Given the description of an element on the screen output the (x, y) to click on. 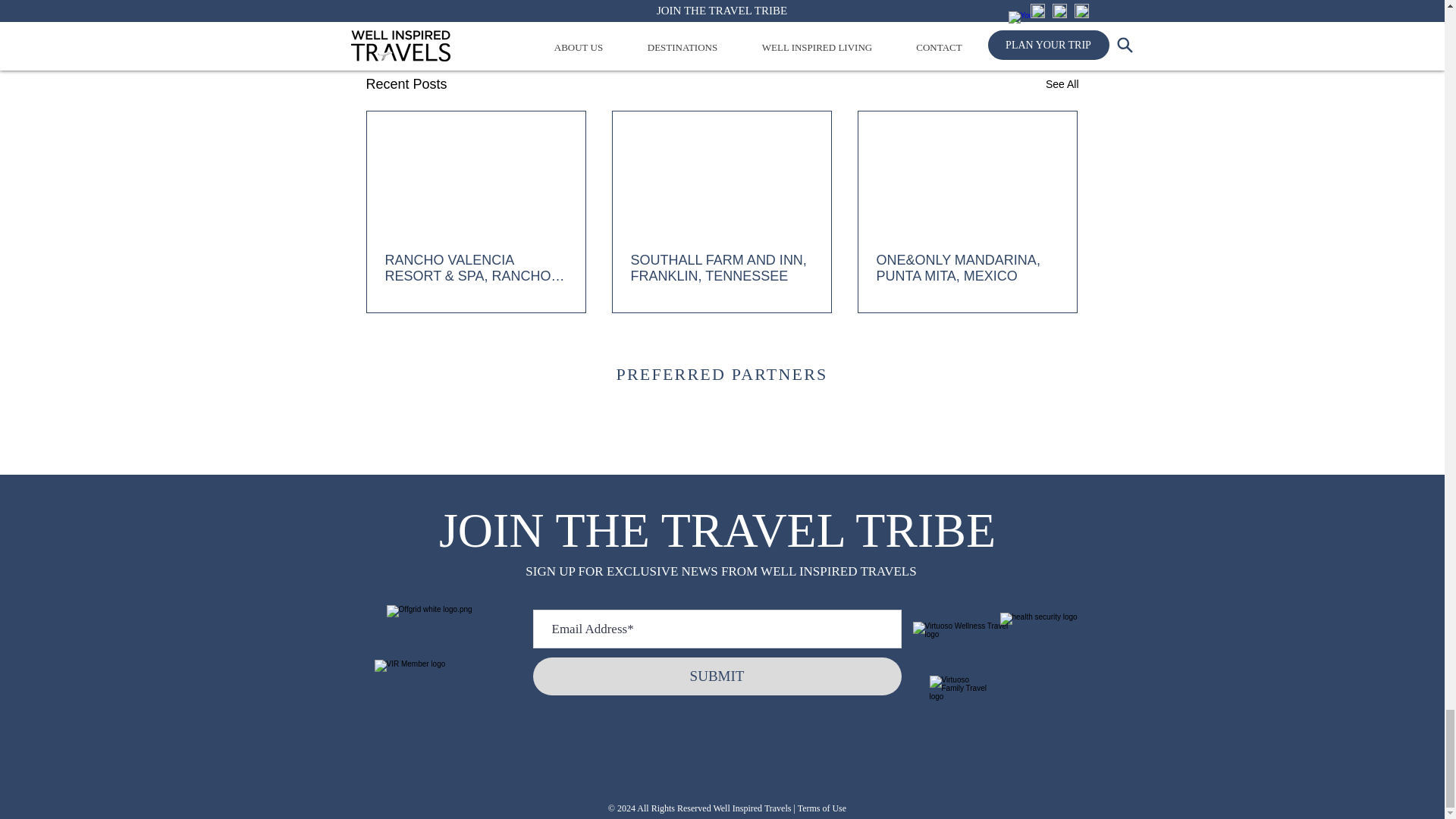
See All (1061, 84)
SOUTHALL FARM AND INN, FRANKLIN, TENNESSEE (721, 268)
SUBMIT (716, 676)
